Given the description of an element on the screen output the (x, y) to click on. 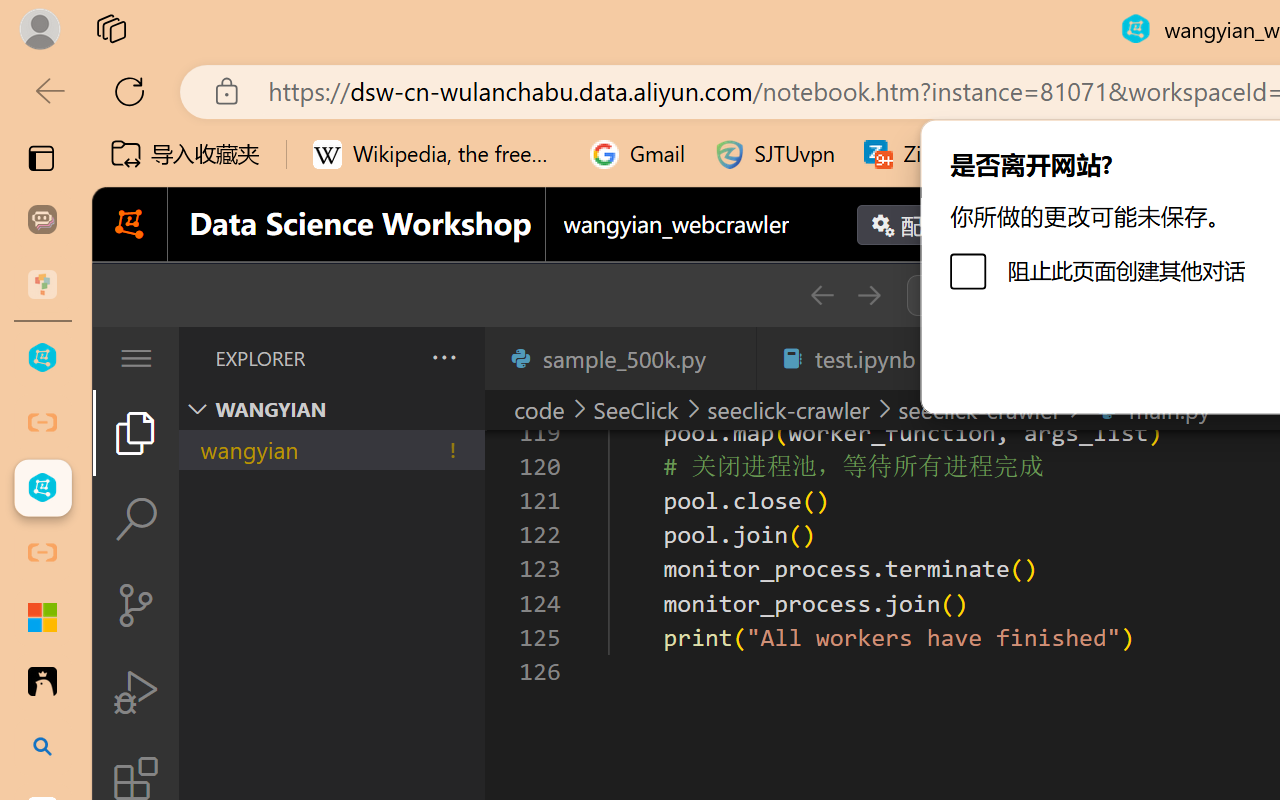
Views and More Actions... (442, 357)
